Given the description of an element on the screen output the (x, y) to click on. 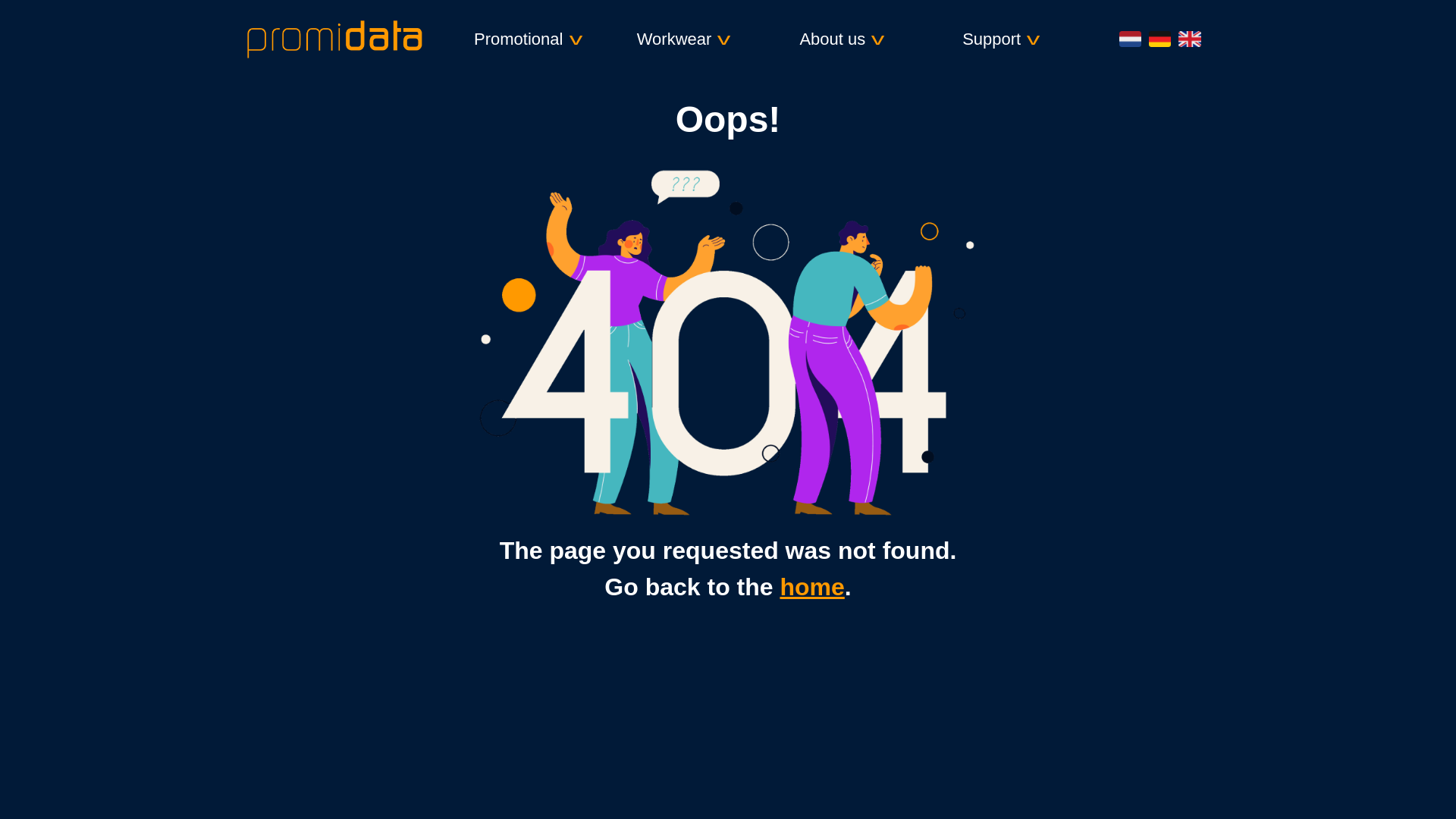
Support v (1037, 38)
Promidata Logo (333, 38)
Promotional v (548, 38)
Flag-EN (1188, 38)
Flag-DE (1159, 38)
home (811, 586)
About us v (874, 38)
Workwear v (711, 38)
